Given the description of an element on the screen output the (x, y) to click on. 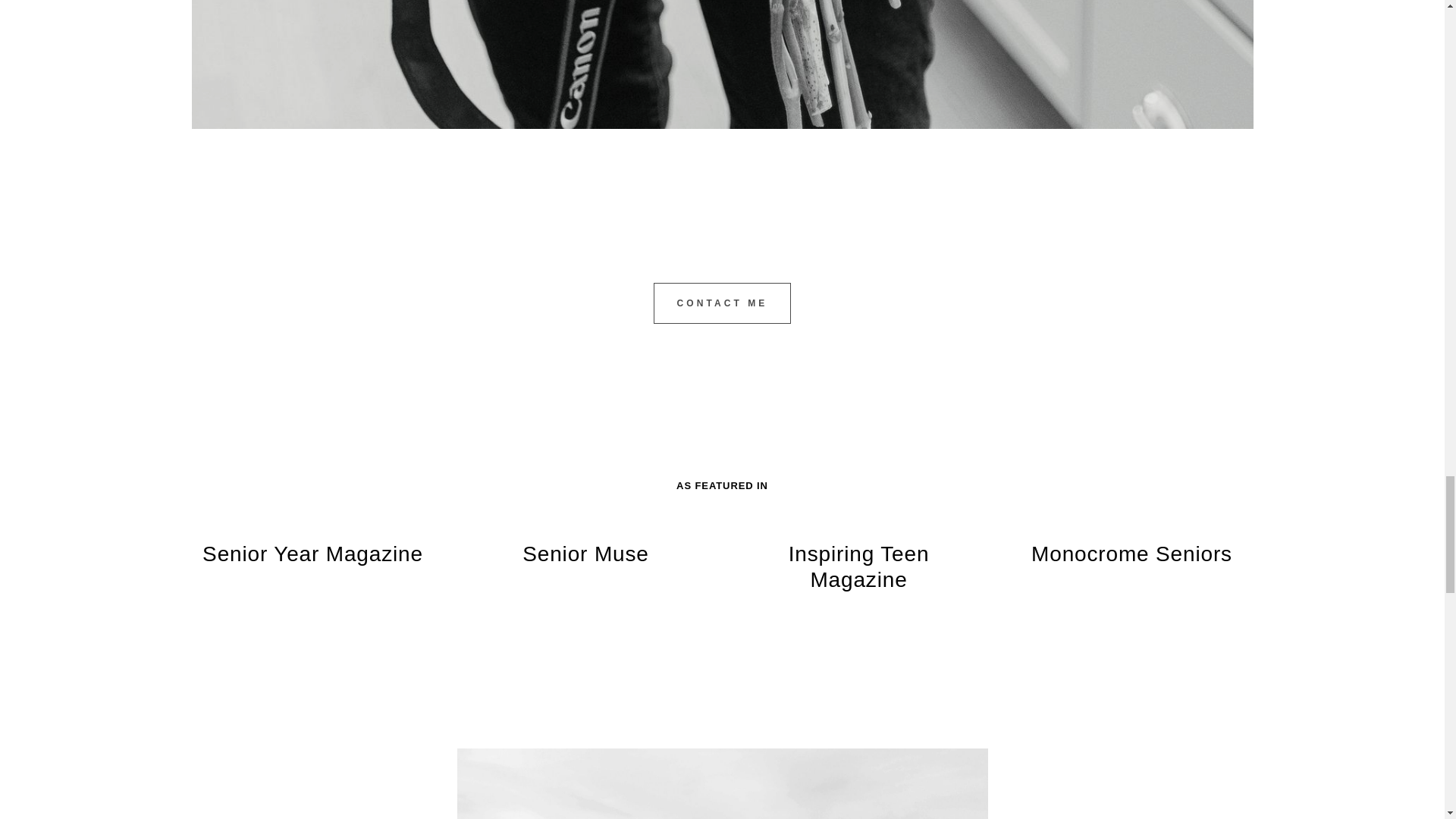
Monocrome Seniors (1130, 554)
Senior Year Magazine (312, 554)
Senior Muse (584, 554)
CONTACT ME (722, 302)
Inspiring Teen Magazine (857, 567)
